Given the description of an element on the screen output the (x, y) to click on. 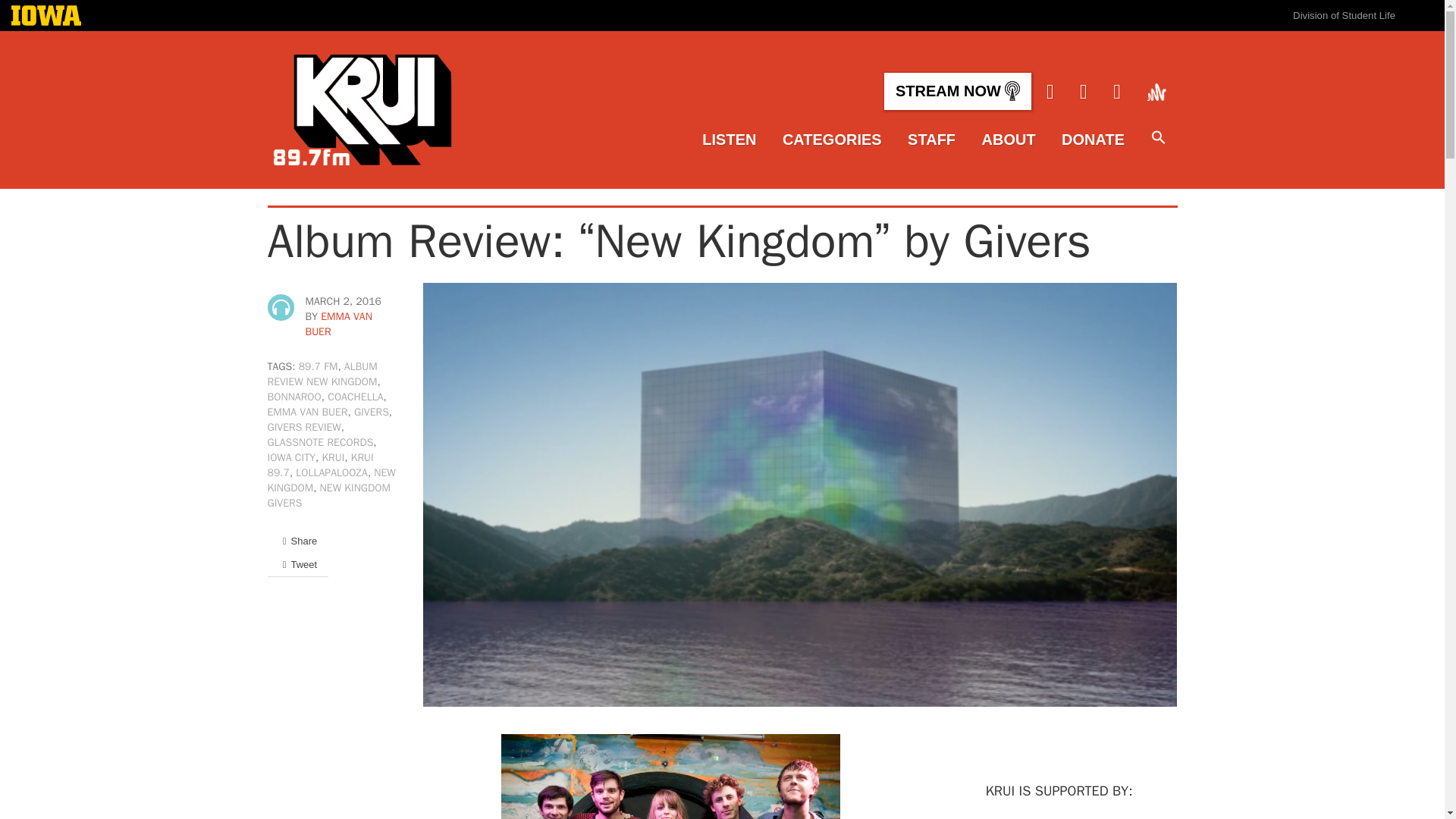
Division of Student Life (1343, 15)
The University of Iowa (46, 16)
STREAM NOW (956, 90)
Share on Twitter (296, 564)
ABOUT (1008, 139)
STAFF (931, 139)
Share on Facebook (296, 540)
CATEGORIES (832, 139)
LISTEN (728, 139)
